Given the description of an element on the screen output the (x, y) to click on. 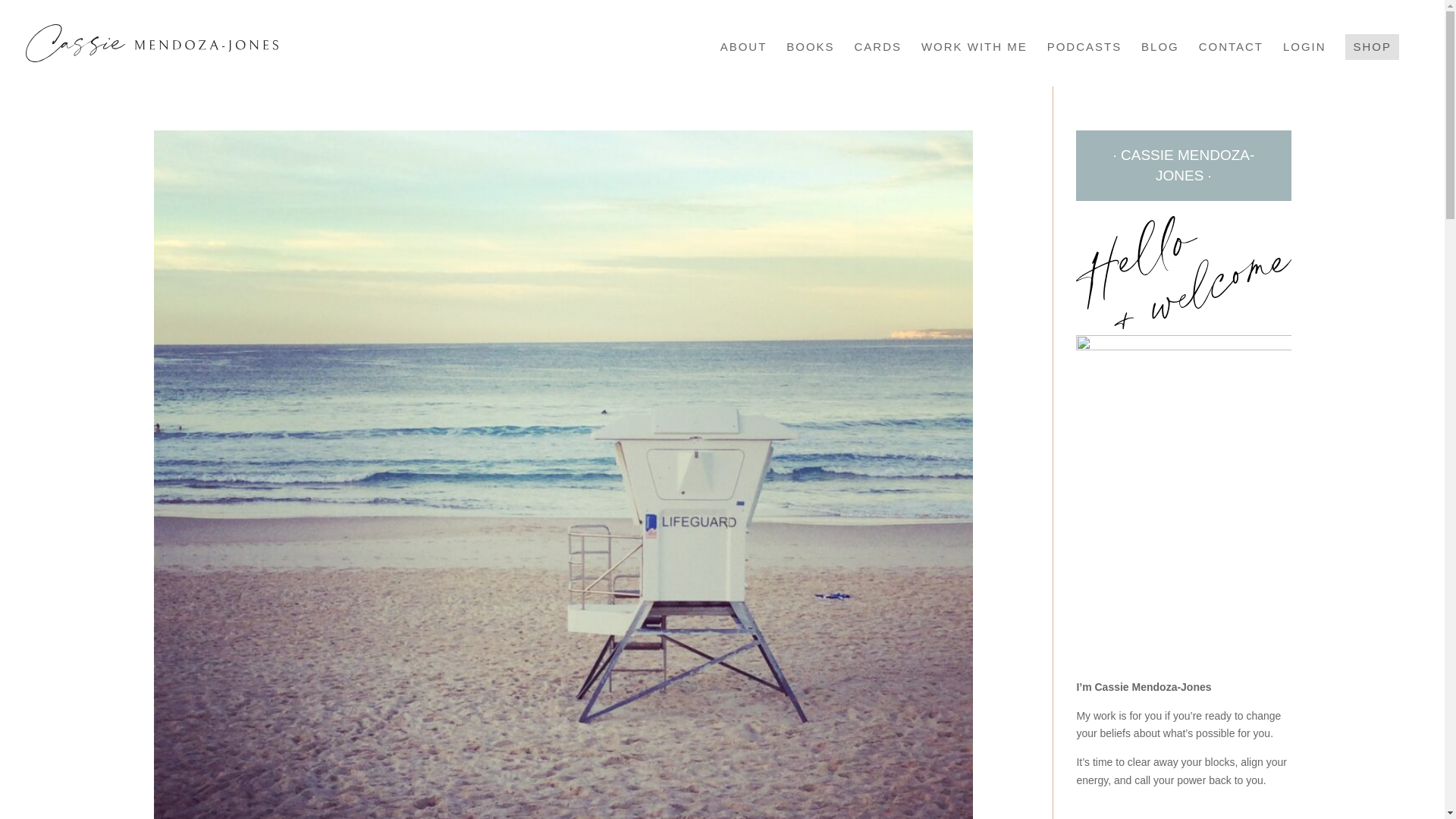
PODCASTS (1084, 63)
BOOKS (810, 63)
CONTACT (1230, 63)
WORK WITH ME (974, 63)
ABOUT (743, 63)
SHOP (1372, 46)
LOGIN (1304, 63)
CARDS (878, 63)
